Given the description of an element on the screen output the (x, y) to click on. 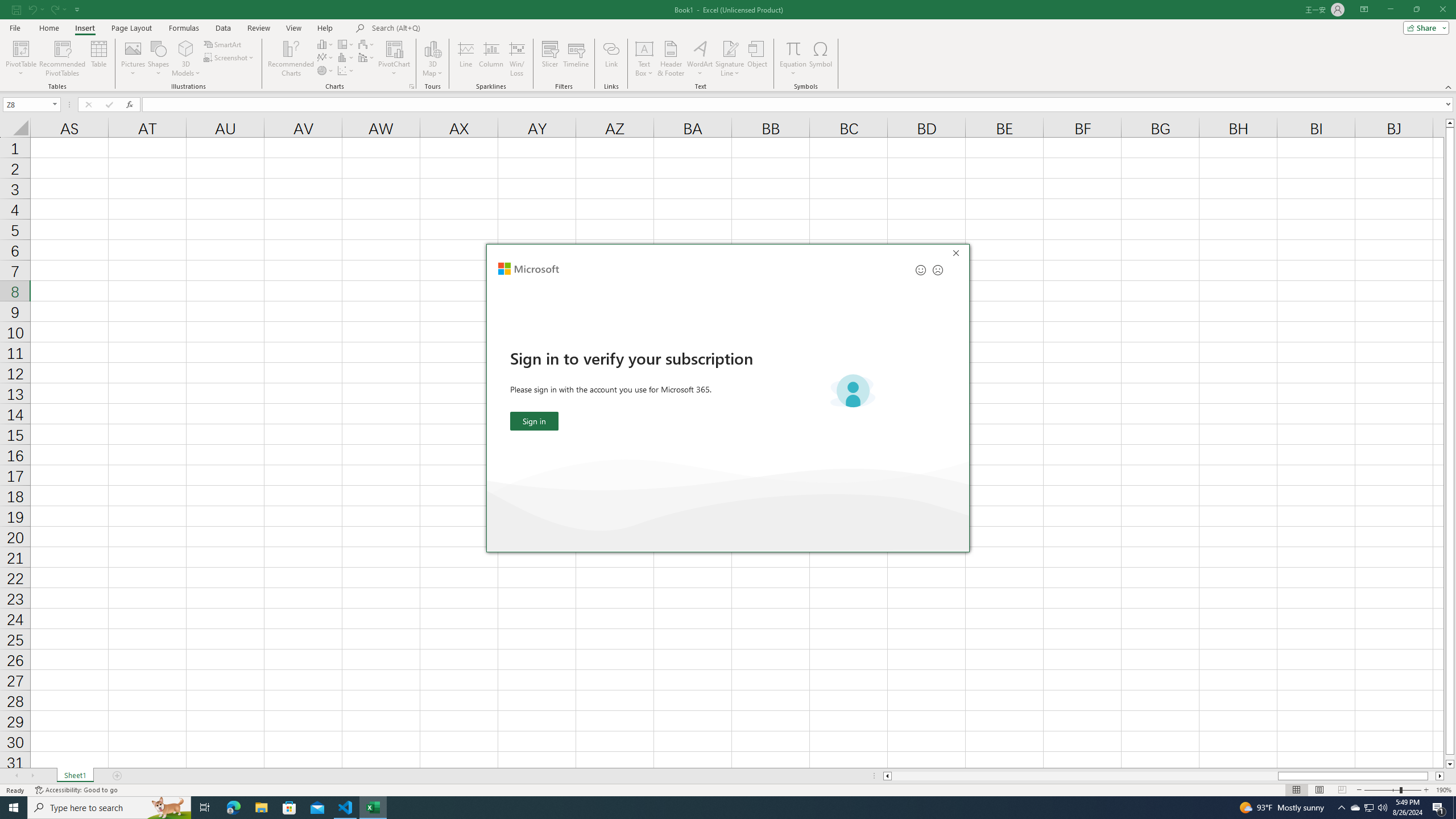
Sign in (534, 420)
3D Map (432, 48)
3D Map (1355, 807)
PivotChart (432, 58)
Scroll Left (394, 48)
Data (16, 775)
PivotChart (223, 28)
File Explorer (394, 58)
Page left (261, 807)
